Given the description of an element on the screen output the (x, y) to click on. 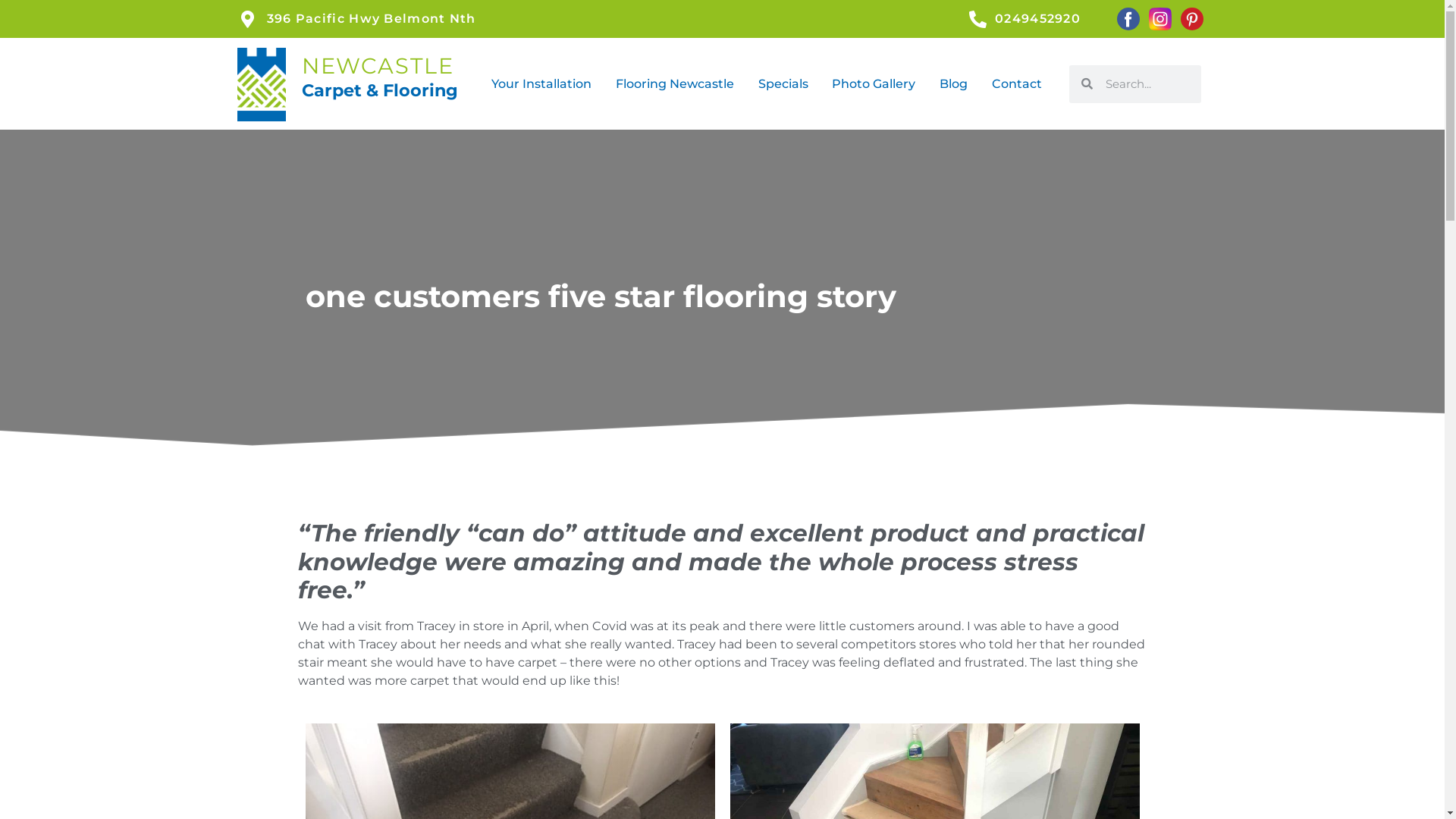
Photo Gallery Element type: text (873, 84)
Flooring Newcastle Element type: text (674, 84)
396 Pacific Hwy Belmont Nth Element type: text (603, 18)
Specials Element type: text (783, 84)
Blog Element type: text (953, 84)
Contact Element type: text (1016, 84)
0249452920 Element type: text (1041, 18)
Your Installation Element type: text (541, 84)
NEWCASTLE Element type: text (377, 65)
